Given the description of an element on the screen output the (x, y) to click on. 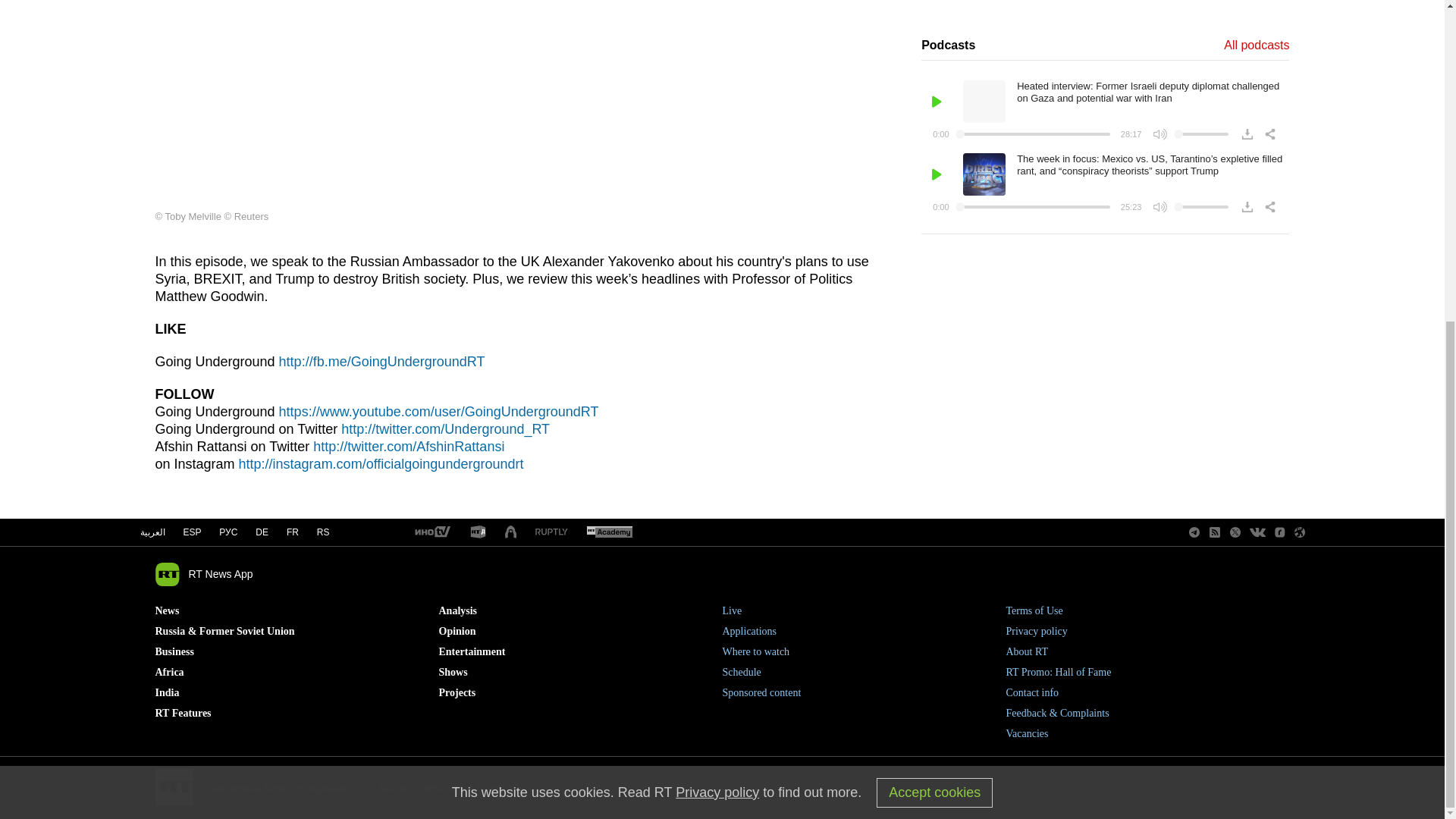
RT  (551, 532)
RT  (608, 532)
RT  (478, 532)
RT  (431, 532)
